Given the description of an element on the screen output the (x, y) to click on. 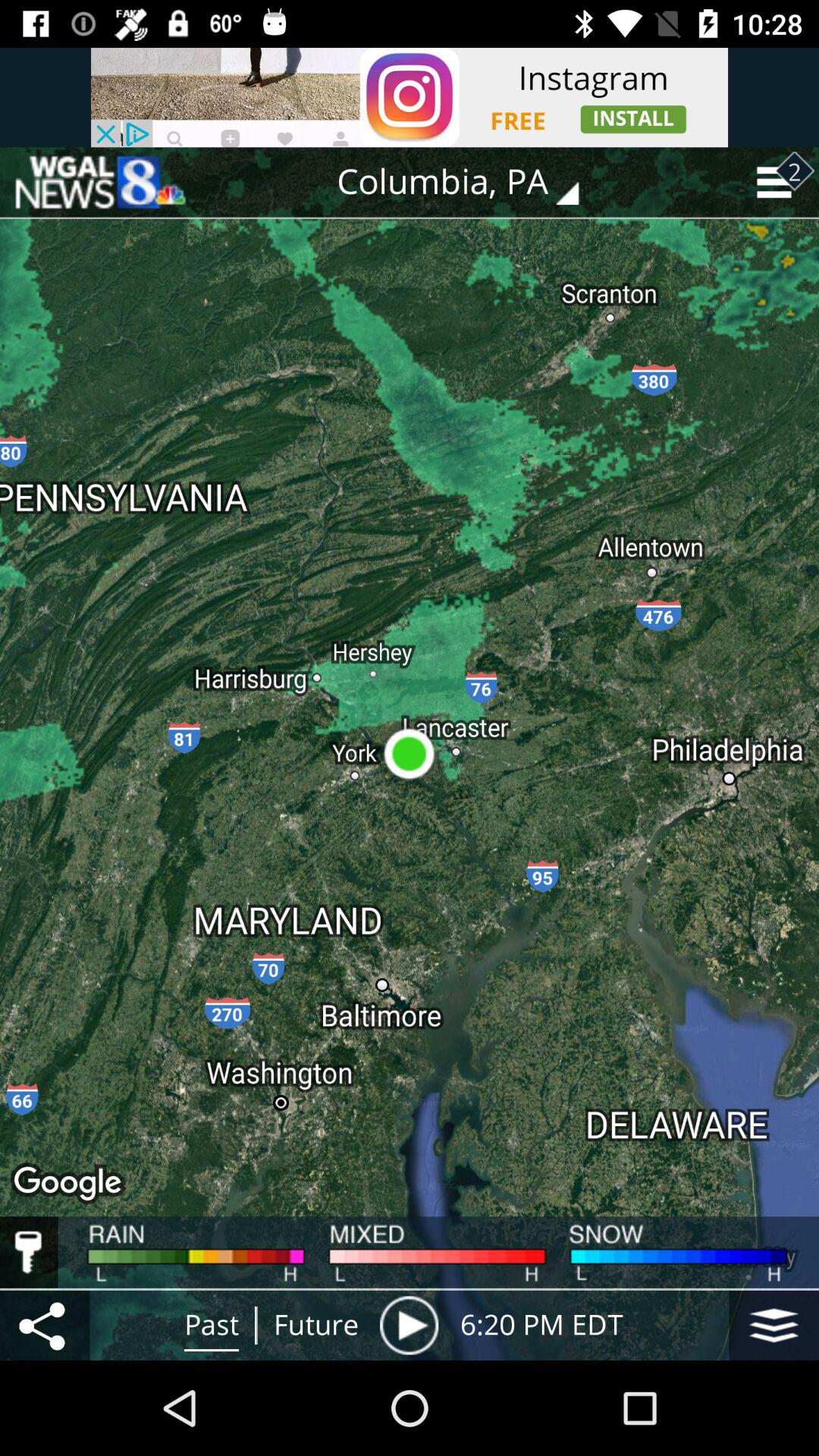
select item to the left of the 6 20 pm item (409, 1325)
